Given the description of an element on the screen output the (x, y) to click on. 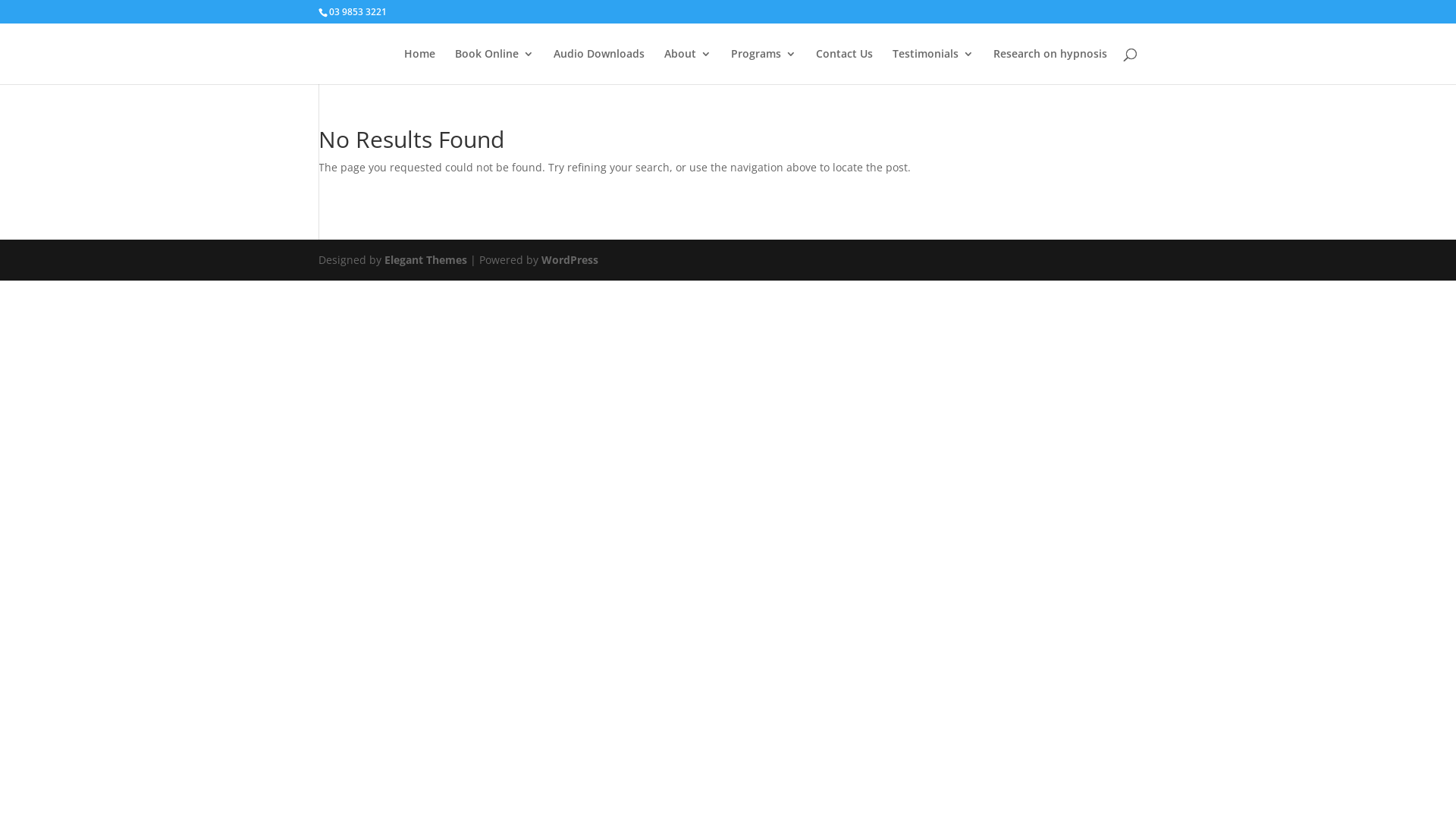
About Element type: text (687, 66)
Contact Us Element type: text (843, 66)
Testimonials Element type: text (932, 66)
Book Online Element type: text (494, 66)
Programs Element type: text (763, 66)
Elegant Themes Element type: text (425, 259)
Research on hypnosis Element type: text (1050, 66)
WordPress Element type: text (569, 259)
Audio Downloads Element type: text (598, 66)
Home Element type: text (419, 66)
